Given the description of an element on the screen output the (x, y) to click on. 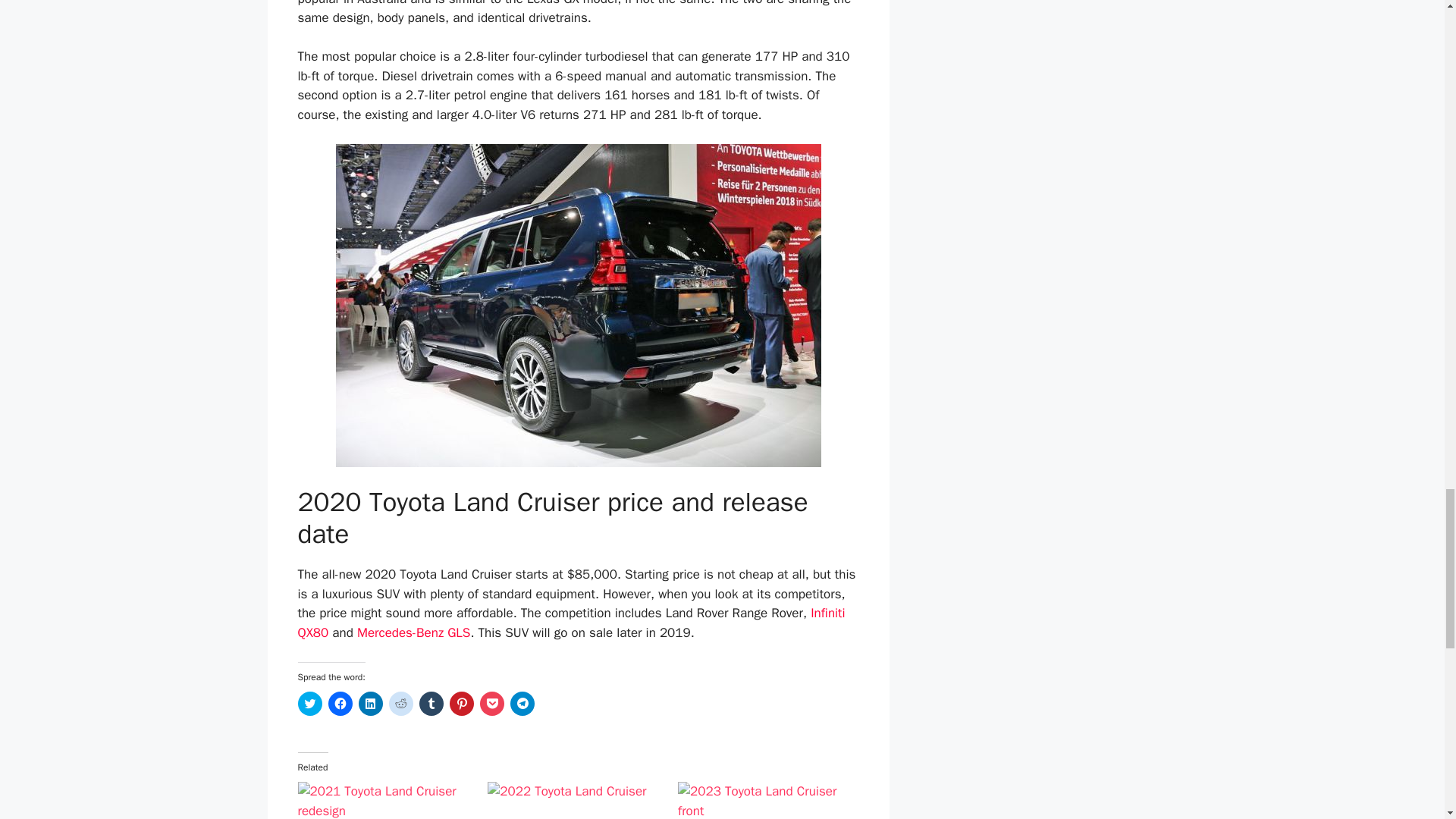
Click to share on Reddit (400, 703)
Click to share on Pinterest (460, 703)
Click to share on LinkedIn (369, 703)
Mercedes-Benz GLS (413, 632)
Next-Gen 2021 Toyota Land Cruiser Could Lose V8 Engine? (384, 800)
Click to share on Telegram (521, 703)
Click to share on Twitter (309, 703)
Click to share on Tumblr (430, 703)
Click to share on Facebook (339, 703)
Click to share on Pocket (491, 703)
2022 Toyota Land Cruiser  Design Overhaul Is Happening (574, 800)
Infiniti QX80 (570, 622)
